Given the description of an element on the screen output the (x, y) to click on. 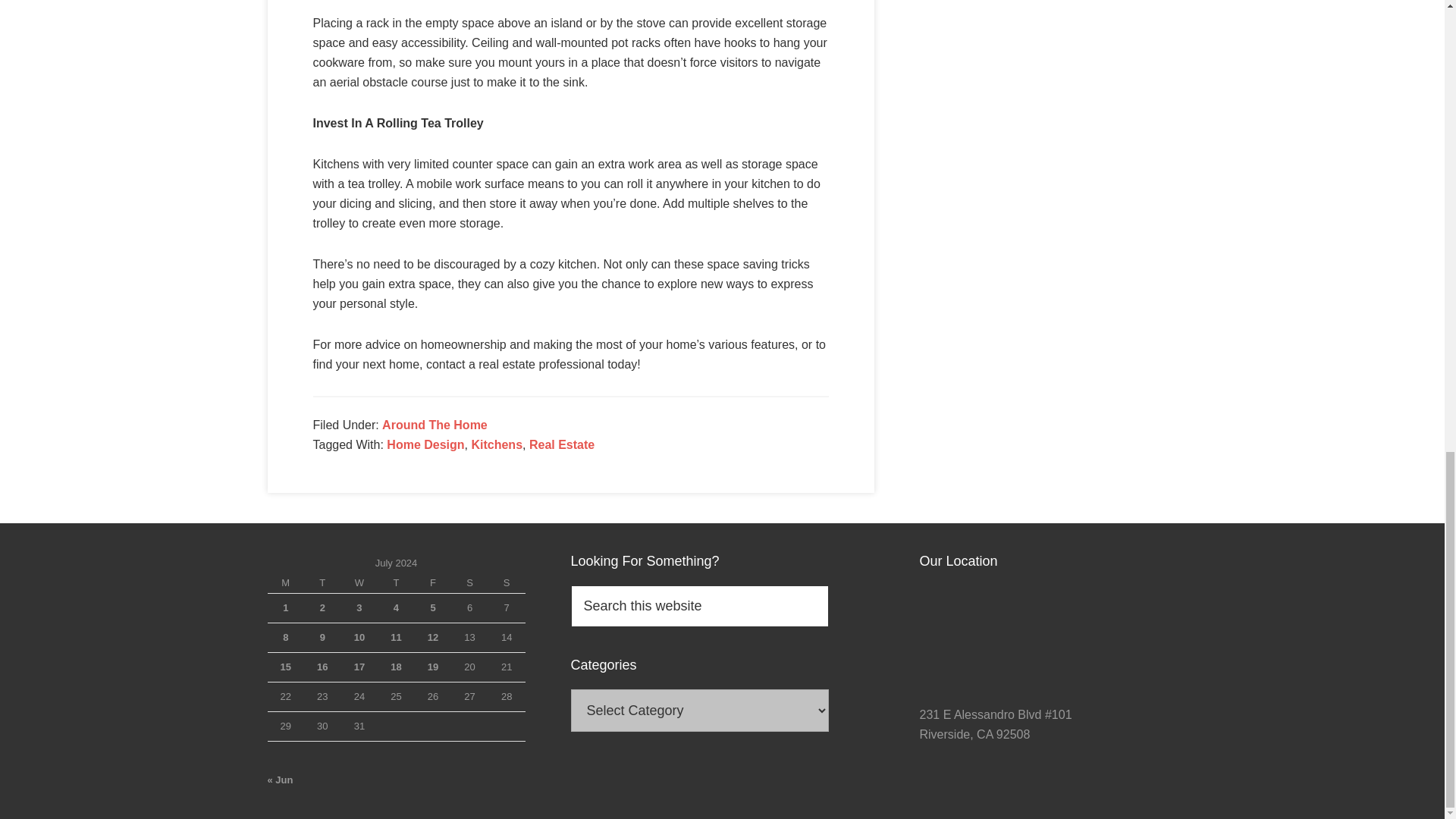
Sunday (506, 583)
Monday (285, 583)
Friday (432, 583)
17 (359, 666)
18 (395, 666)
Around The Home (434, 424)
Thursday (395, 583)
Wednesday (359, 583)
Tuesday (322, 583)
Home Design (425, 444)
Saturday (469, 583)
Real Estate (561, 444)
10 (359, 636)
